Given the description of an element on the screen output the (x, y) to click on. 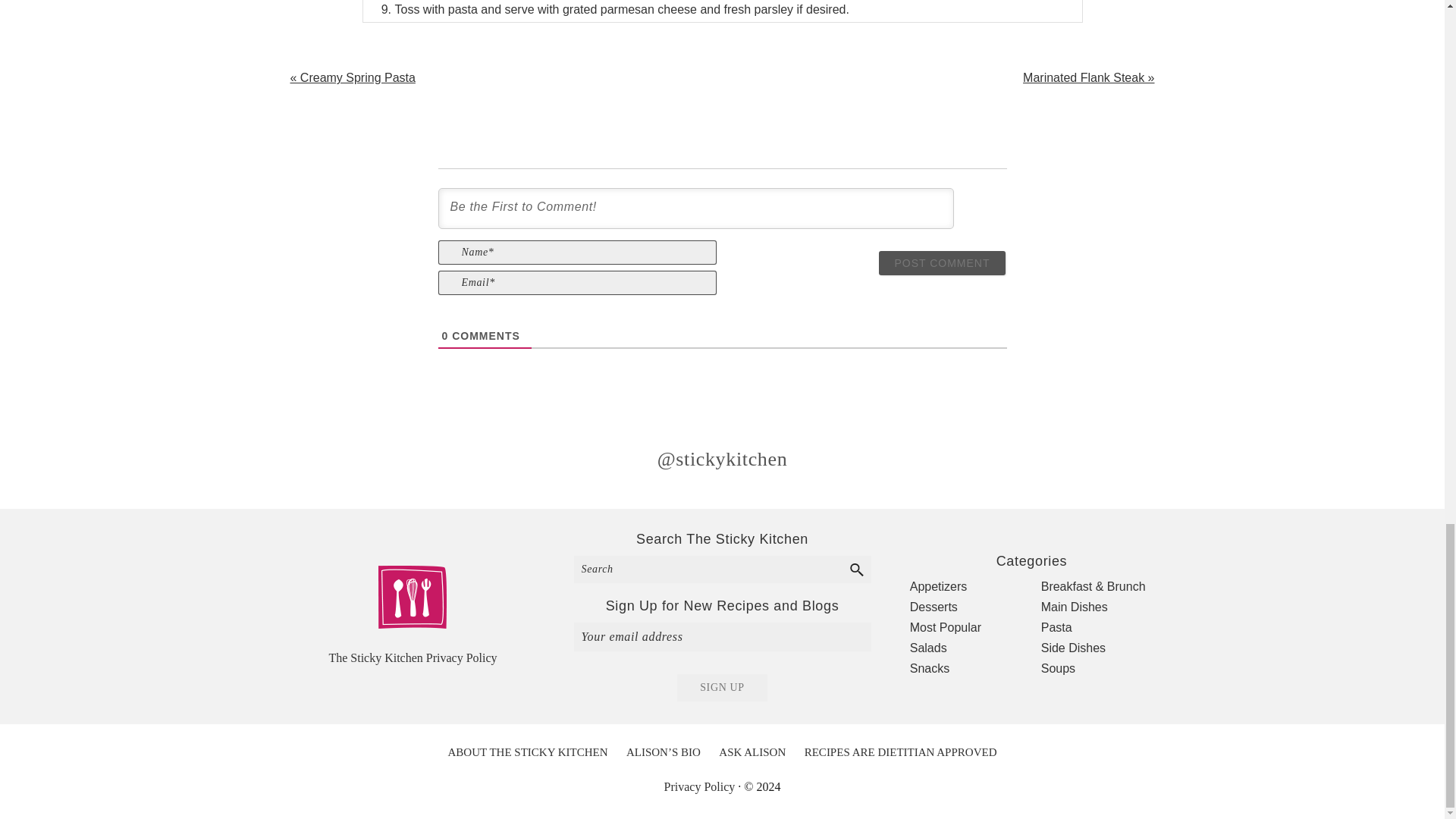
Post Comment (941, 262)
The Sticky Kitchen Privacy Policy (412, 657)
Appetizers (939, 585)
Post Comment (941, 262)
Sign up (722, 687)
Sign up (722, 687)
Desserts (934, 606)
